Given the description of an element on the screen output the (x, y) to click on. 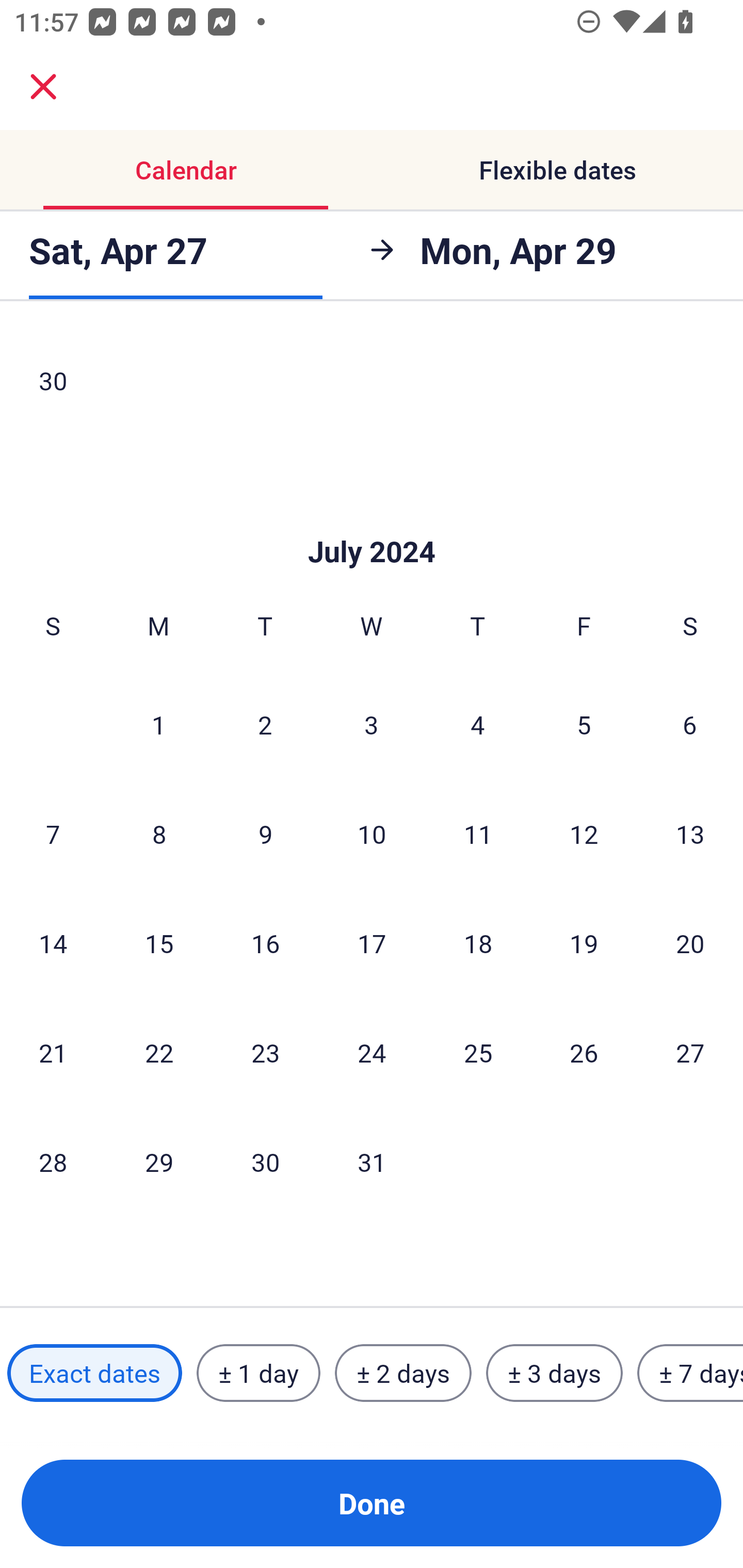
close. (43, 86)
Flexible dates (557, 170)
30 Sunday, June 30, 2024 (53, 381)
Skip to Done (371, 521)
1 Monday, July 1, 2024 (158, 724)
2 Tuesday, July 2, 2024 (264, 724)
3 Wednesday, July 3, 2024 (371, 724)
4 Thursday, July 4, 2024 (477, 724)
5 Friday, July 5, 2024 (583, 724)
6 Saturday, July 6, 2024 (689, 724)
7 Sunday, July 7, 2024 (53, 832)
8 Monday, July 8, 2024 (159, 832)
9 Tuesday, July 9, 2024 (265, 832)
10 Wednesday, July 10, 2024 (371, 832)
11 Thursday, July 11, 2024 (477, 832)
12 Friday, July 12, 2024 (584, 832)
13 Saturday, July 13, 2024 (690, 832)
14 Sunday, July 14, 2024 (53, 942)
15 Monday, July 15, 2024 (159, 942)
16 Tuesday, July 16, 2024 (265, 942)
17 Wednesday, July 17, 2024 (371, 942)
18 Thursday, July 18, 2024 (477, 942)
19 Friday, July 19, 2024 (584, 942)
20 Saturday, July 20, 2024 (690, 942)
21 Sunday, July 21, 2024 (53, 1052)
22 Monday, July 22, 2024 (159, 1052)
23 Tuesday, July 23, 2024 (265, 1052)
24 Wednesday, July 24, 2024 (371, 1052)
25 Thursday, July 25, 2024 (477, 1052)
26 Friday, July 26, 2024 (584, 1052)
27 Saturday, July 27, 2024 (690, 1052)
28 Sunday, July 28, 2024 (53, 1161)
29 Monday, July 29, 2024 (159, 1161)
30 Tuesday, July 30, 2024 (265, 1161)
31 Wednesday, July 31, 2024 (371, 1161)
Exact dates (94, 1372)
± 1 day (258, 1372)
± 2 days (403, 1372)
± 3 days (553, 1372)
± 7 days (690, 1372)
Done (371, 1502)
